Given the description of an element on the screen output the (x, y) to click on. 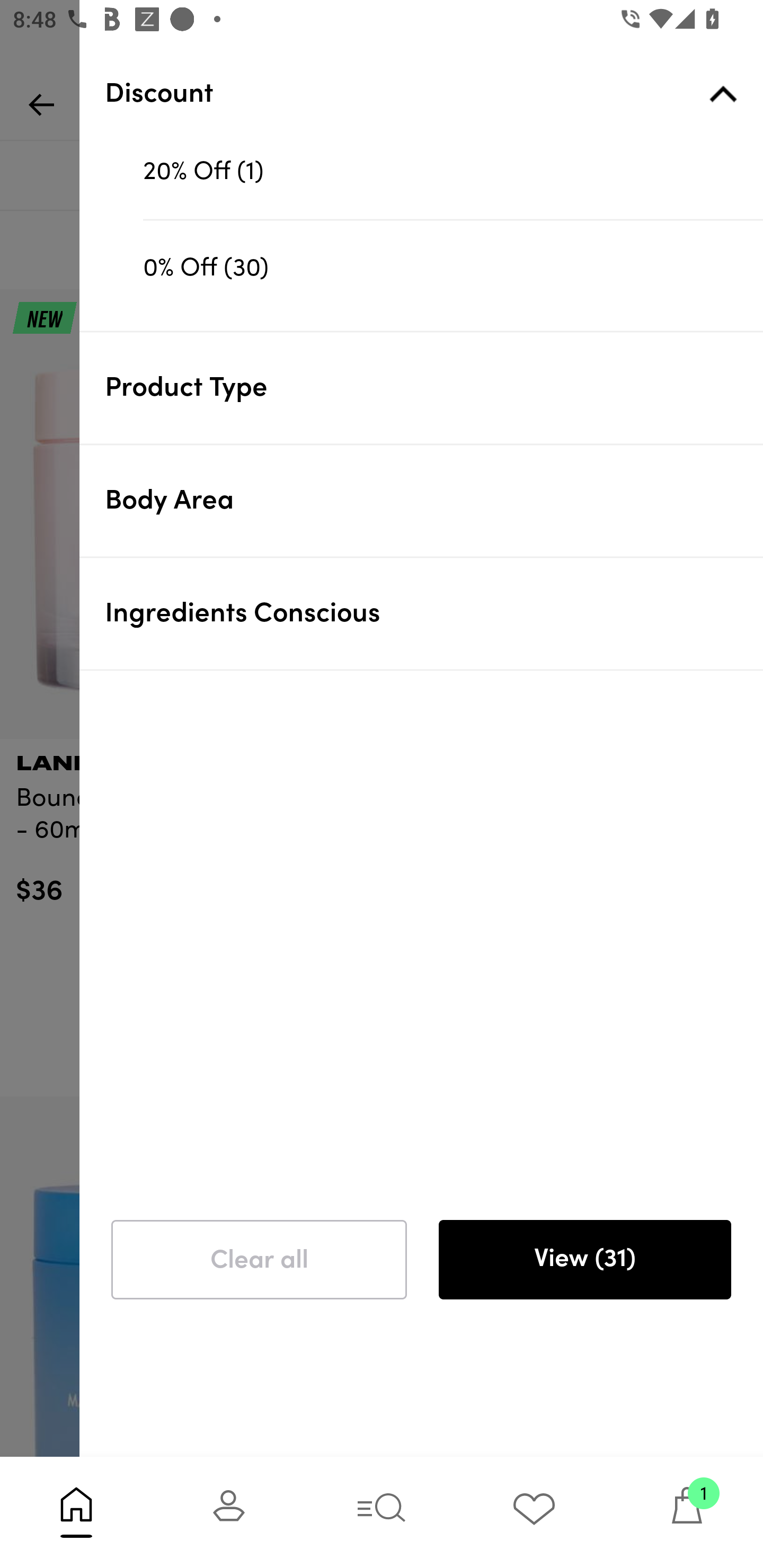
Discount 20% Off (1) 0% Off (30) (434, 183)
20% Off (1) (453, 171)
0% Off (30) (453, 267)
Product Type (434, 387)
Body Area (434, 500)
Ingredients Conscious (434, 613)
Clear all (258, 1259)
View (31) (584, 1259)
1 (686, 1512)
